Given the description of an element on the screen output the (x, y) to click on. 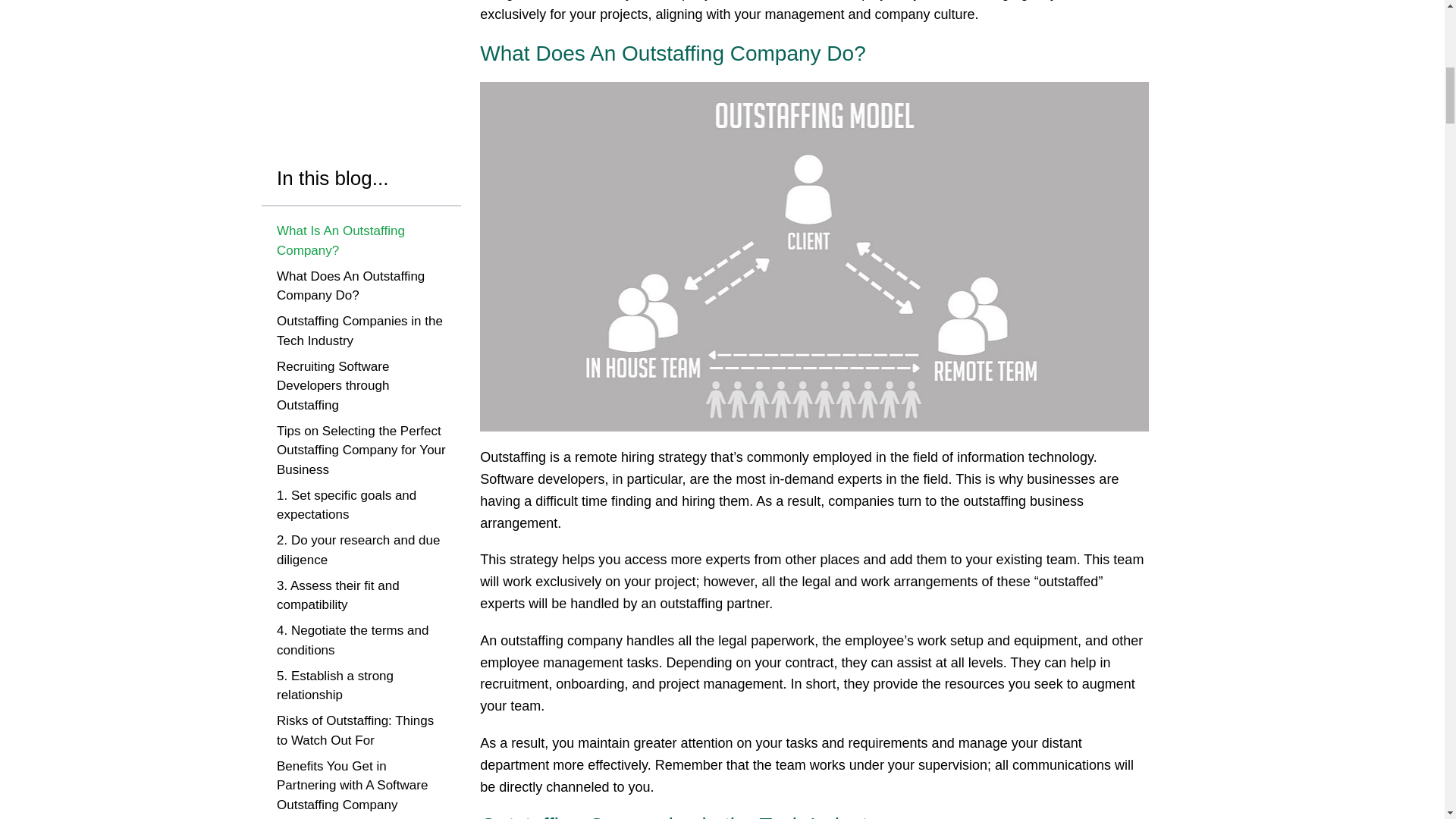
Flexibility (303, 115)
Predictability (312, 63)
Hand-picked candidates (345, 37)
No hidden costs (322, 12)
Shared Account Specialist (351, 89)
